Given the description of an element on the screen output the (x, y) to click on. 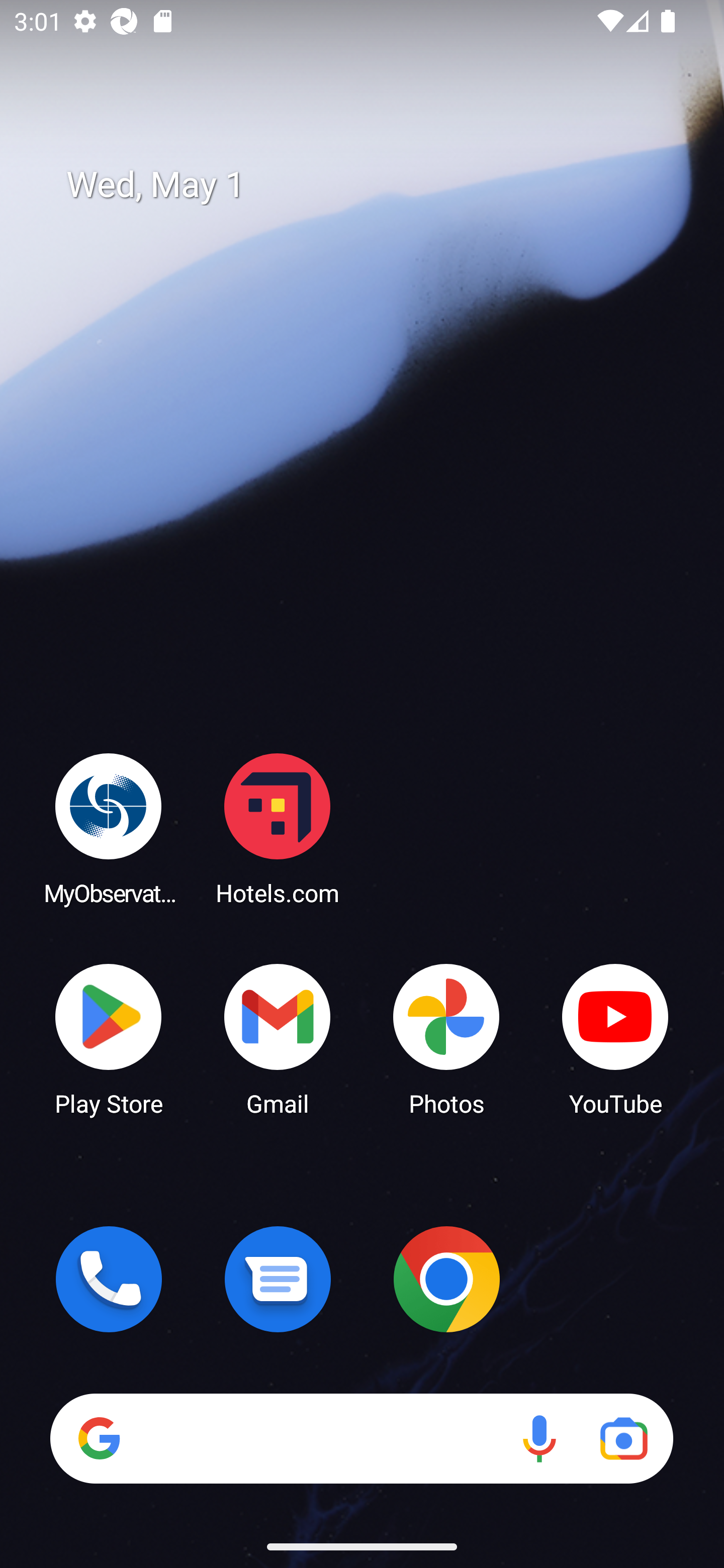
Wed, May 1 (375, 184)
MyObservatory (108, 828)
Hotels.com (277, 828)
Play Store (108, 1038)
Gmail (277, 1038)
Photos (445, 1038)
YouTube (615, 1038)
Phone (108, 1279)
Messages (277, 1279)
Chrome (446, 1279)
Search Voice search Google Lens (361, 1438)
Voice search (539, 1438)
Google Lens (623, 1438)
